Given the description of an element on the screen output the (x, y) to click on. 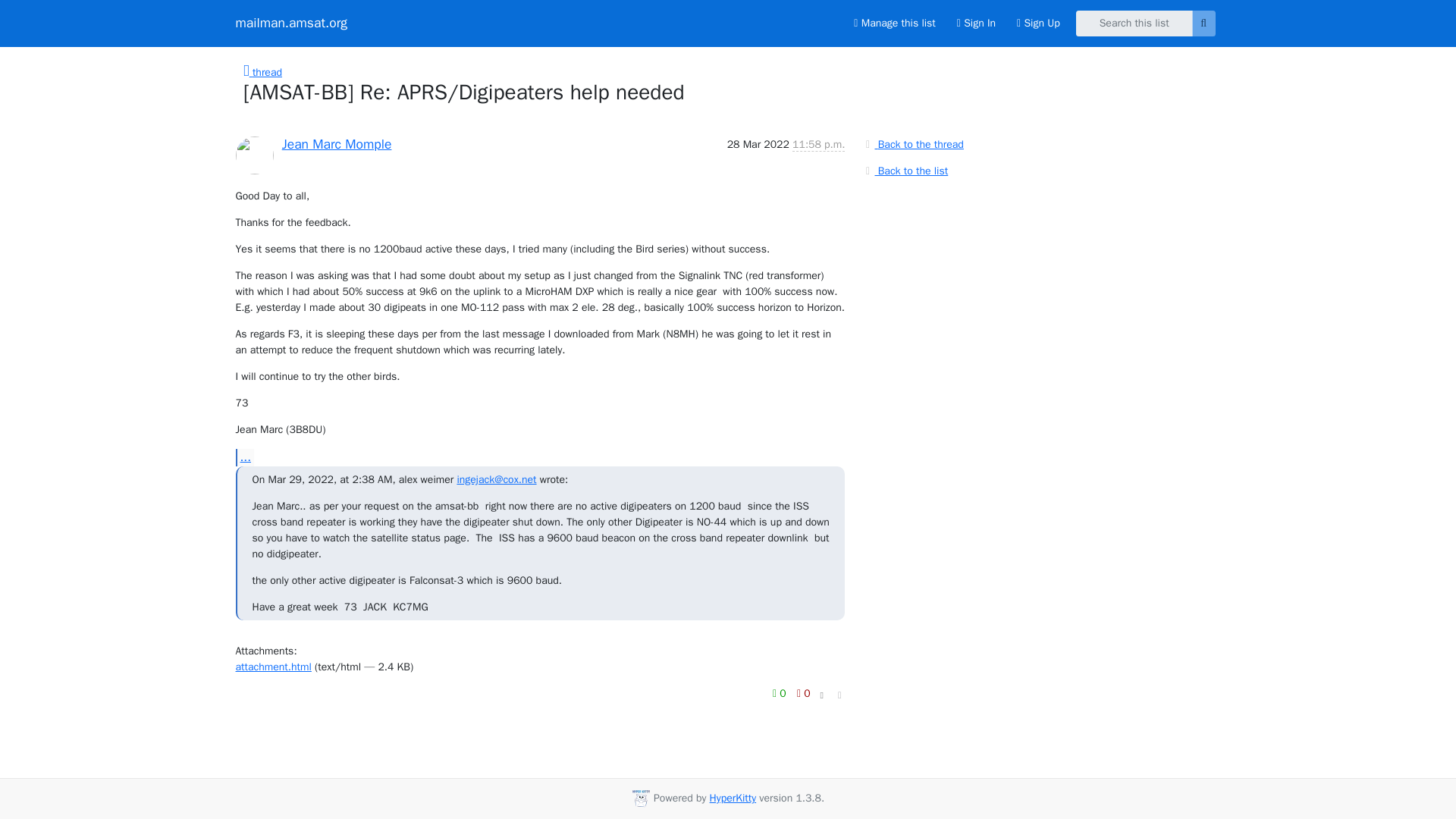
Manage this list (893, 22)
You must be logged-in to vote. (803, 693)
You must be logged-in to vote. (780, 693)
Sign Up (1038, 22)
Jean Marc Momple (336, 143)
mailman.amsat.org (290, 23)
Back to the thread (911, 144)
Sign In (976, 22)
attachment.html (272, 666)
... (243, 457)
